Given the description of an element on the screen output the (x, y) to click on. 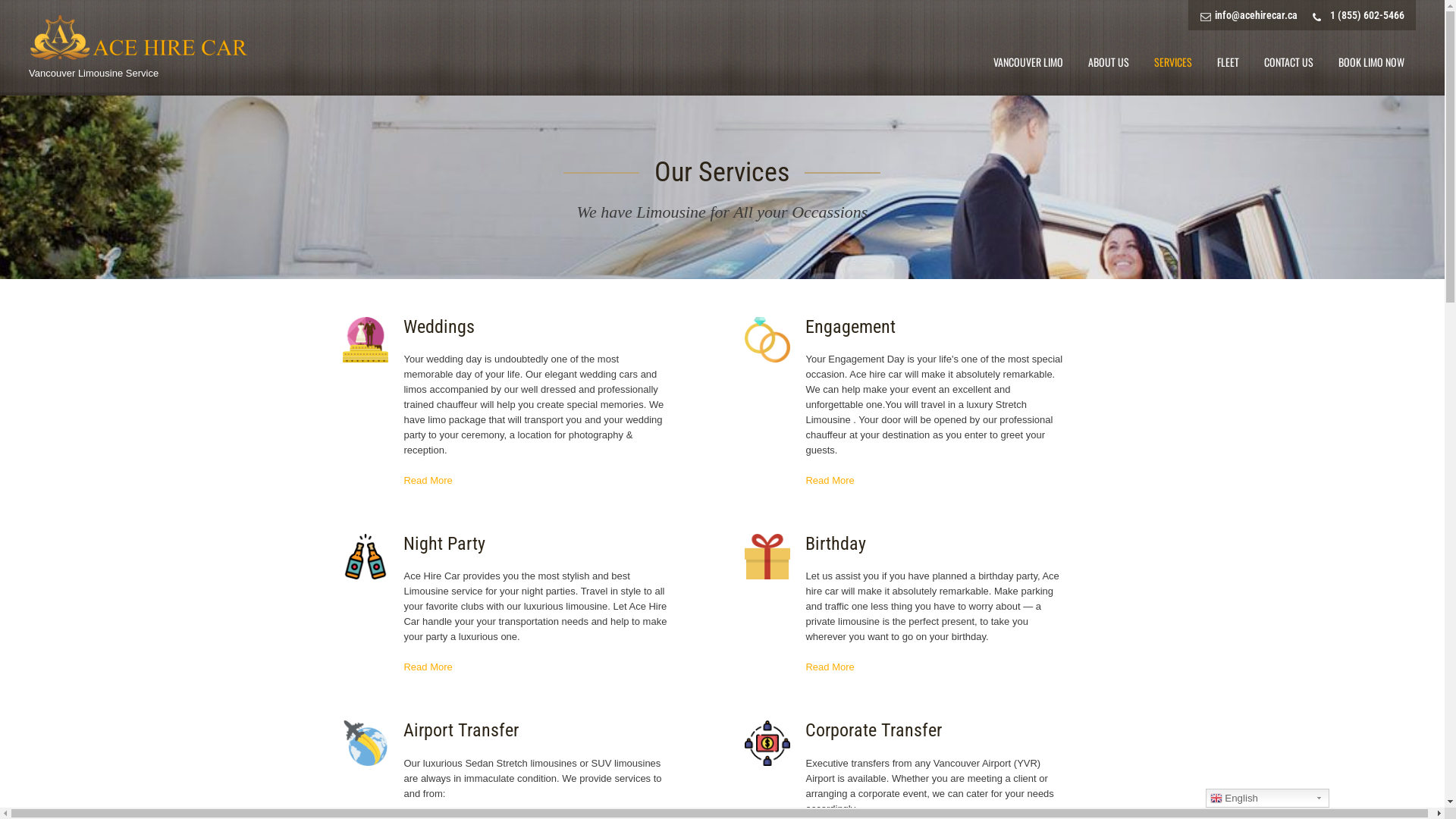
Read More Element type: text (829, 480)
VANCOUVER LIMO Element type: text (1028, 62)
ABOUT US Element type: text (1108, 62)
BOOK LIMO NOW Element type: text (1371, 62)
FLEET Element type: text (1227, 62)
English Element type: text (1267, 797)
info@acehirecar.ca Element type: text (1248, 15)
SERVICES Element type: text (1172, 62)
Read More Element type: text (427, 666)
Read More Element type: text (829, 666)
Vancouver Limousine Service Element type: text (93, 72)
Read More Element type: text (427, 480)
CONTACT US Element type: text (1288, 62)
